Given the description of an element on the screen output the (x, y) to click on. 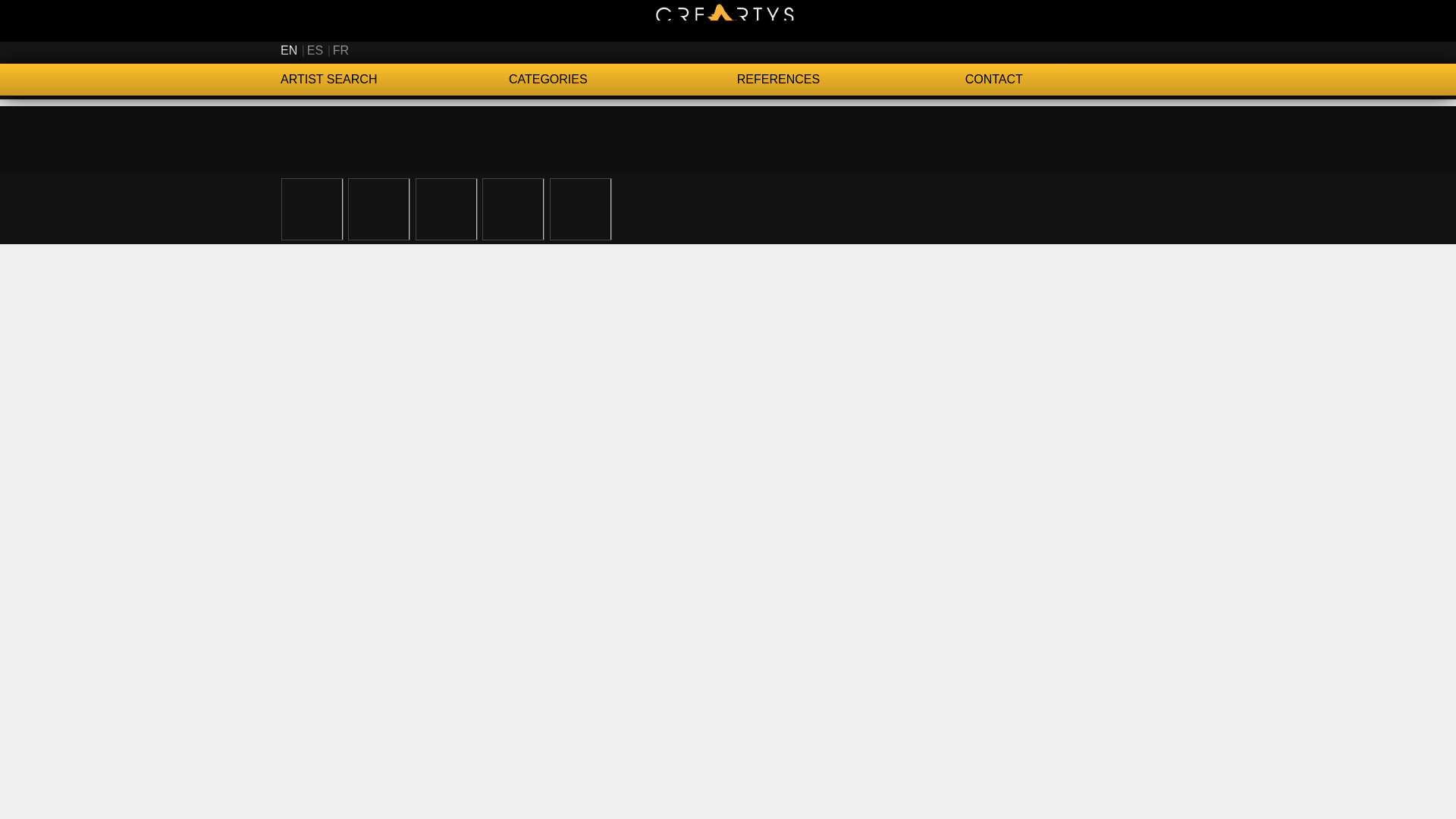
Previous (94, 208)
ARTIST SEARCH (394, 79)
Creartys on LinkedIn (1136, 50)
CONTACT (1069, 79)
Creartys on Vimeo (1161, 50)
Creartys (727, 20)
ES (315, 50)
CATEGORIES (622, 79)
REFERENCES (850, 79)
FR (341, 50)
Creartys on Instagram (1109, 50)
EN (289, 50)
Creartys on Twitter (1083, 50)
